Given the description of an element on the screen output the (x, y) to click on. 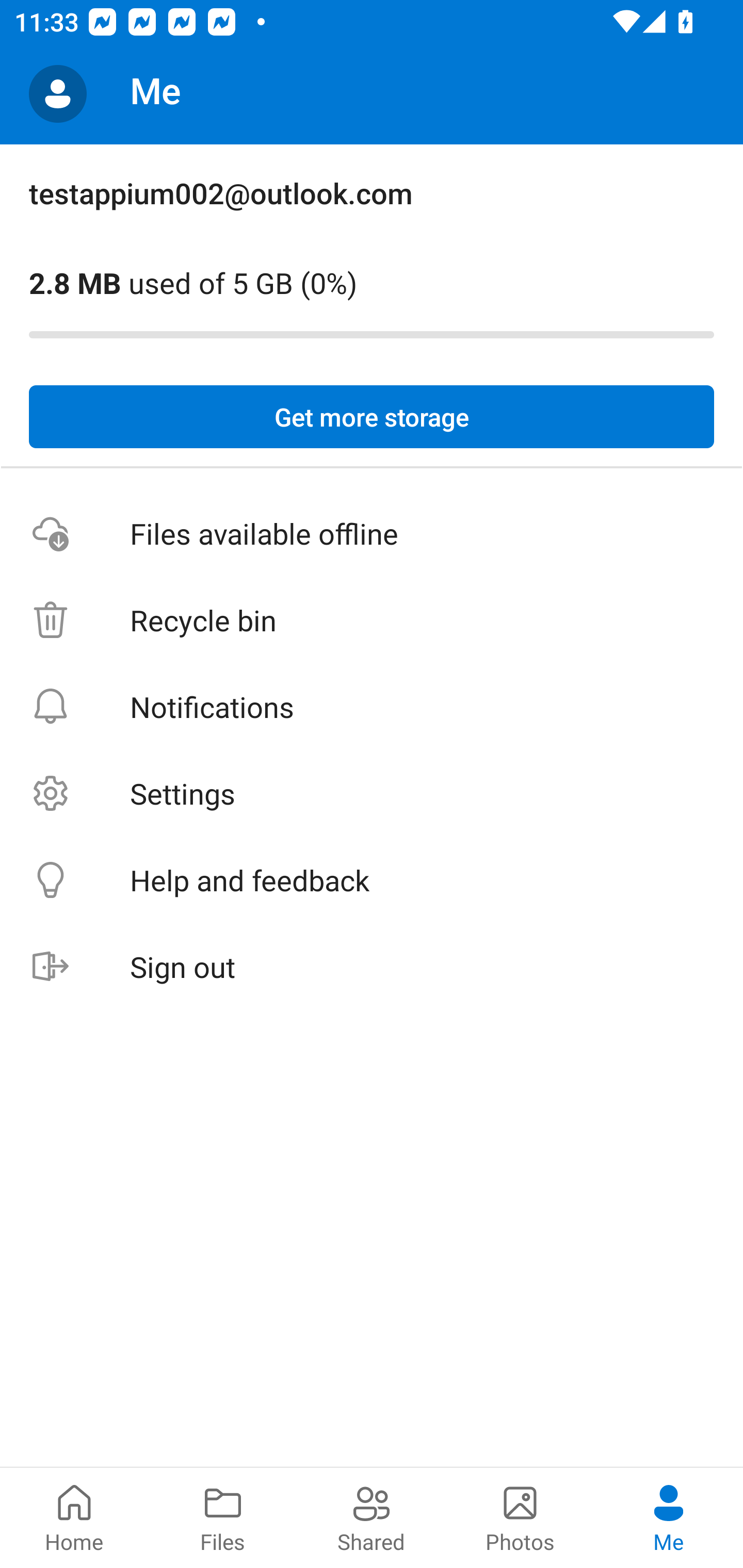
Account switcher (57, 93)
Get more storage (371, 416)
Files available offline (371, 533)
Recycle bin (371, 620)
Notifications (371, 706)
Settings (371, 793)
Help and feedback (371, 880)
Sign out (371, 966)
Home pivot Home (74, 1517)
Files pivot Files (222, 1517)
Shared pivot Shared (371, 1517)
Photos pivot Photos (519, 1517)
